Given the description of an element on the screen output the (x, y) to click on. 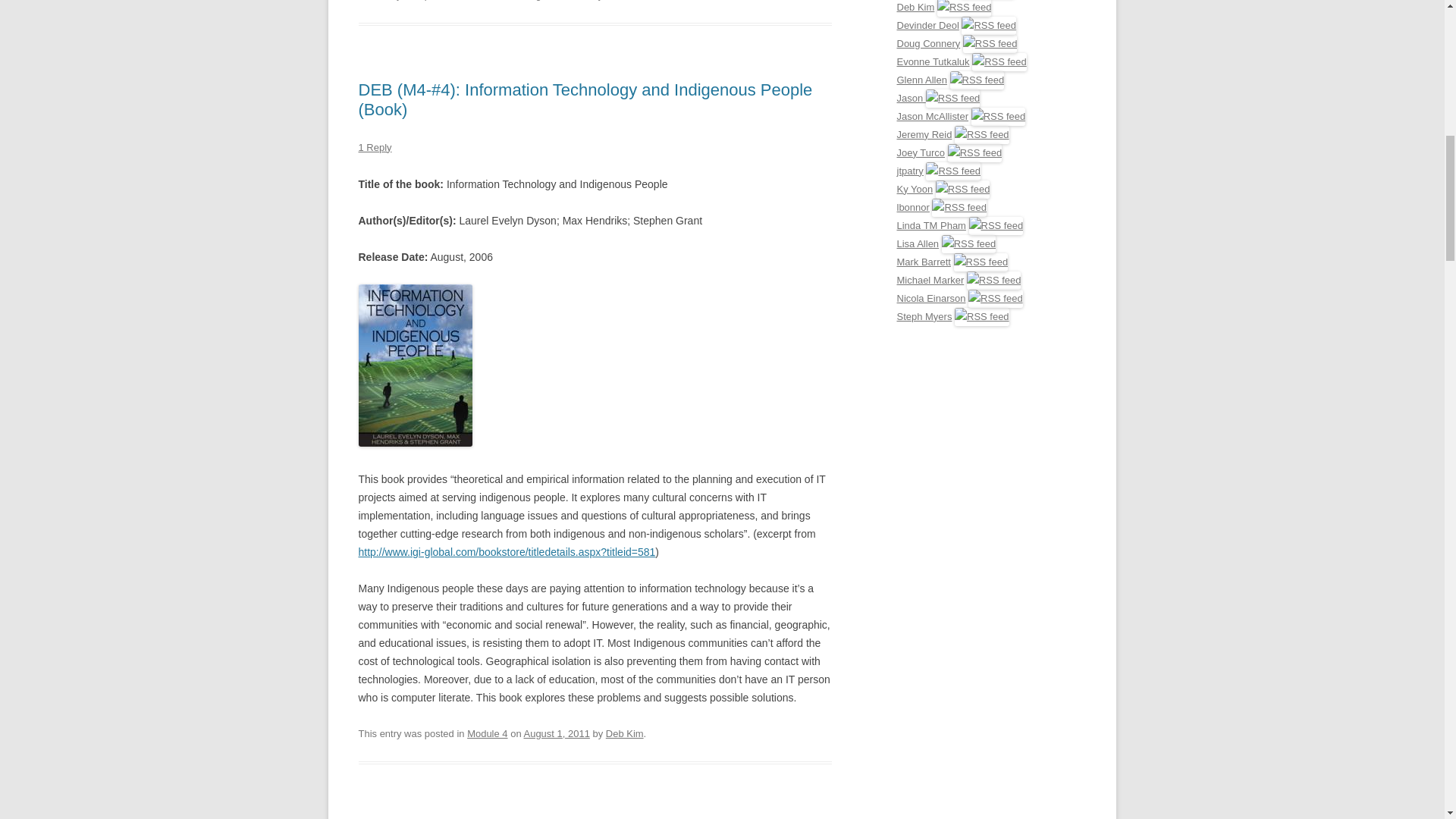
11:28 pm (555, 0)
View all posts by Deb Kim (624, 733)
Deb Kim (624, 733)
August 1, 2011 (555, 733)
11:18 pm (555, 733)
August 1, 2011 (555, 0)
Module 4 (486, 733)
